Given the description of an element on the screen output the (x, y) to click on. 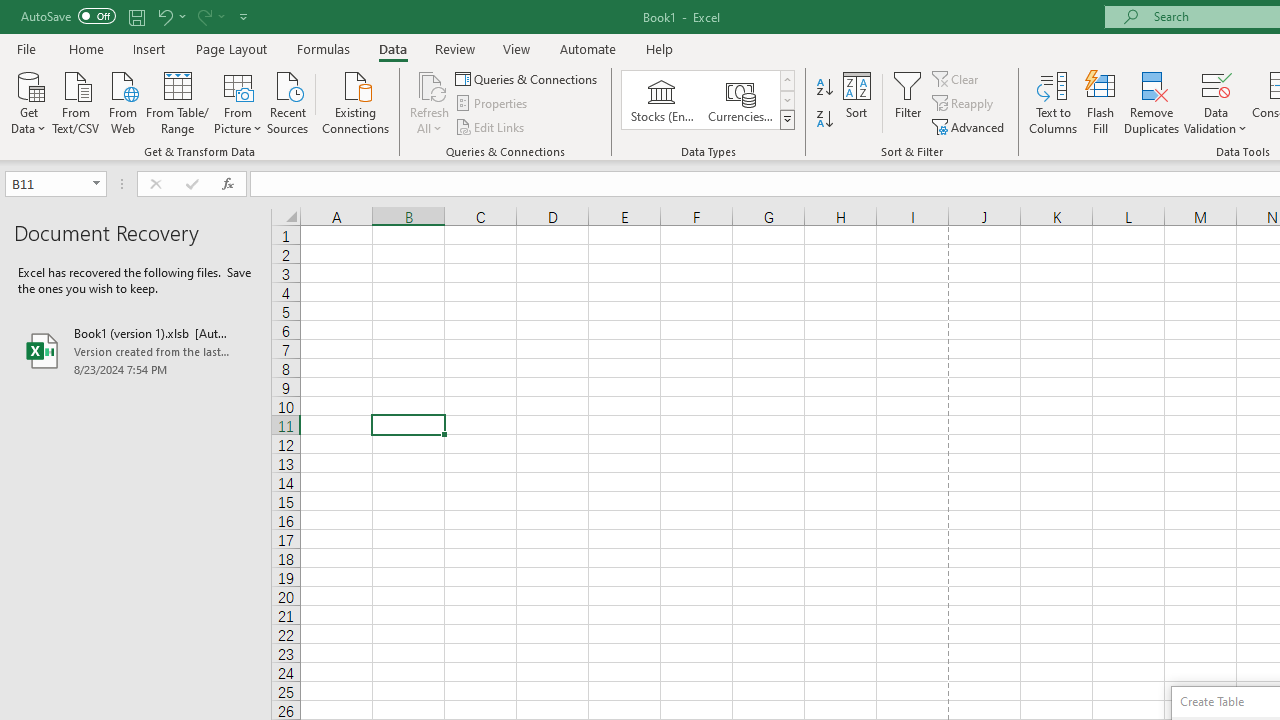
Text to Columns... (1053, 102)
Advanced... (970, 126)
Properties (492, 103)
Flash Fill (1101, 102)
